Given the description of an element on the screen output the (x, y) to click on. 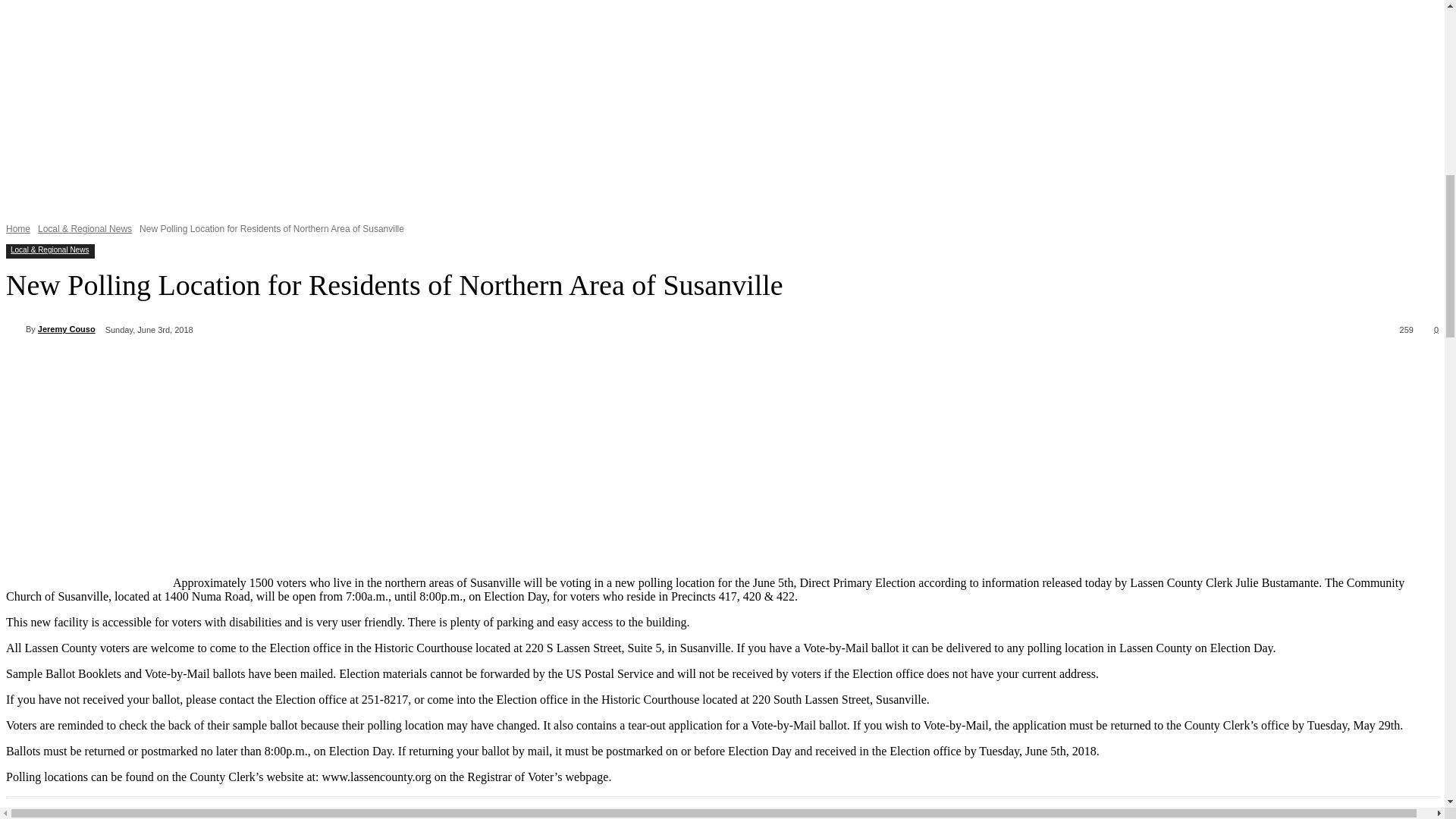
Jeremy Couso (66, 328)
0 (1433, 328)
Home (17, 228)
Jeremy Couso (15, 328)
